Given the description of an element on the screen output the (x, y) to click on. 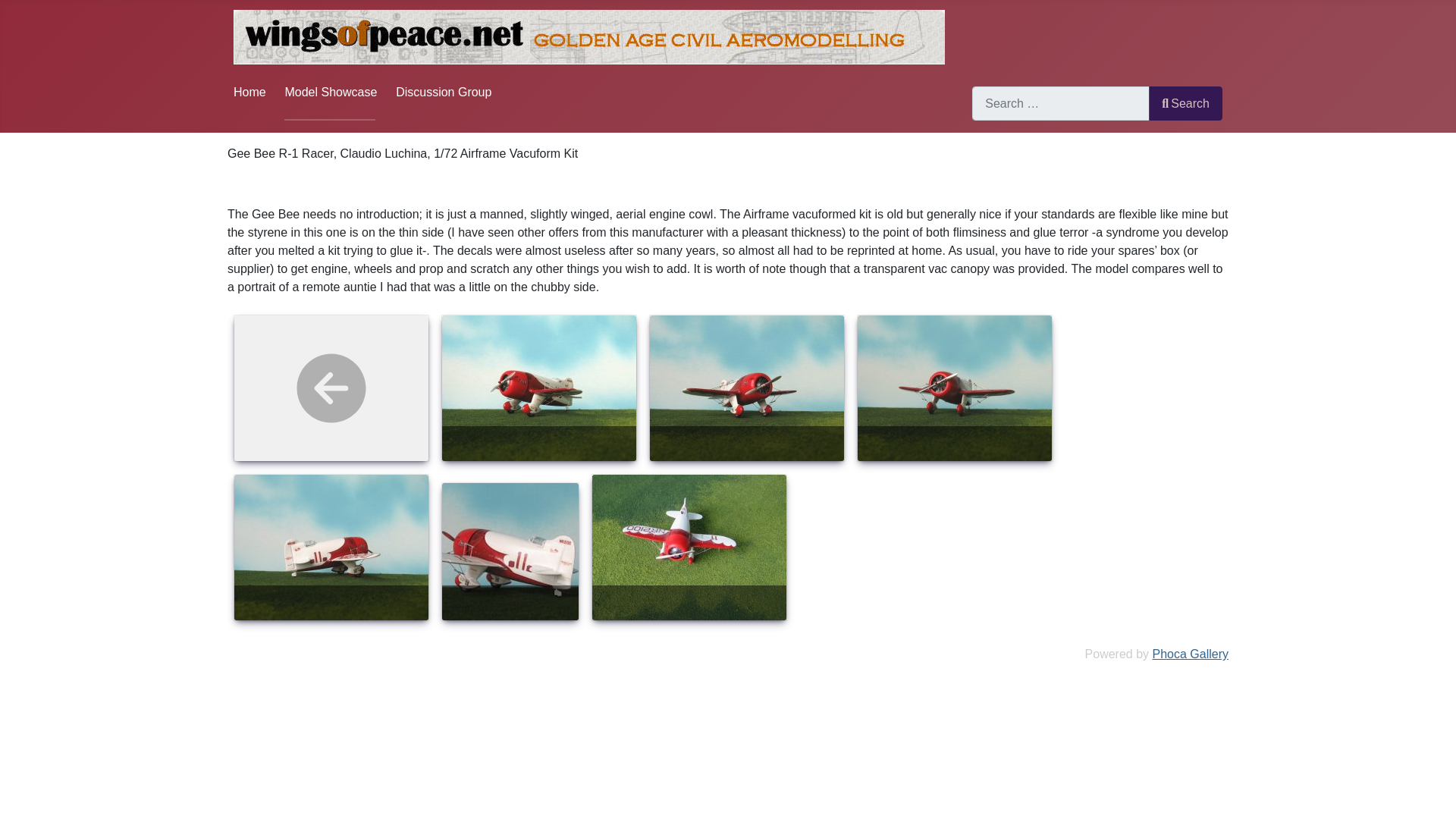
Phoca Gallery (1190, 653)
Home (249, 91)
Discussion Group (444, 91)
Search (1185, 103)
Model Showcase (330, 91)
